Given the description of an element on the screen output the (x, y) to click on. 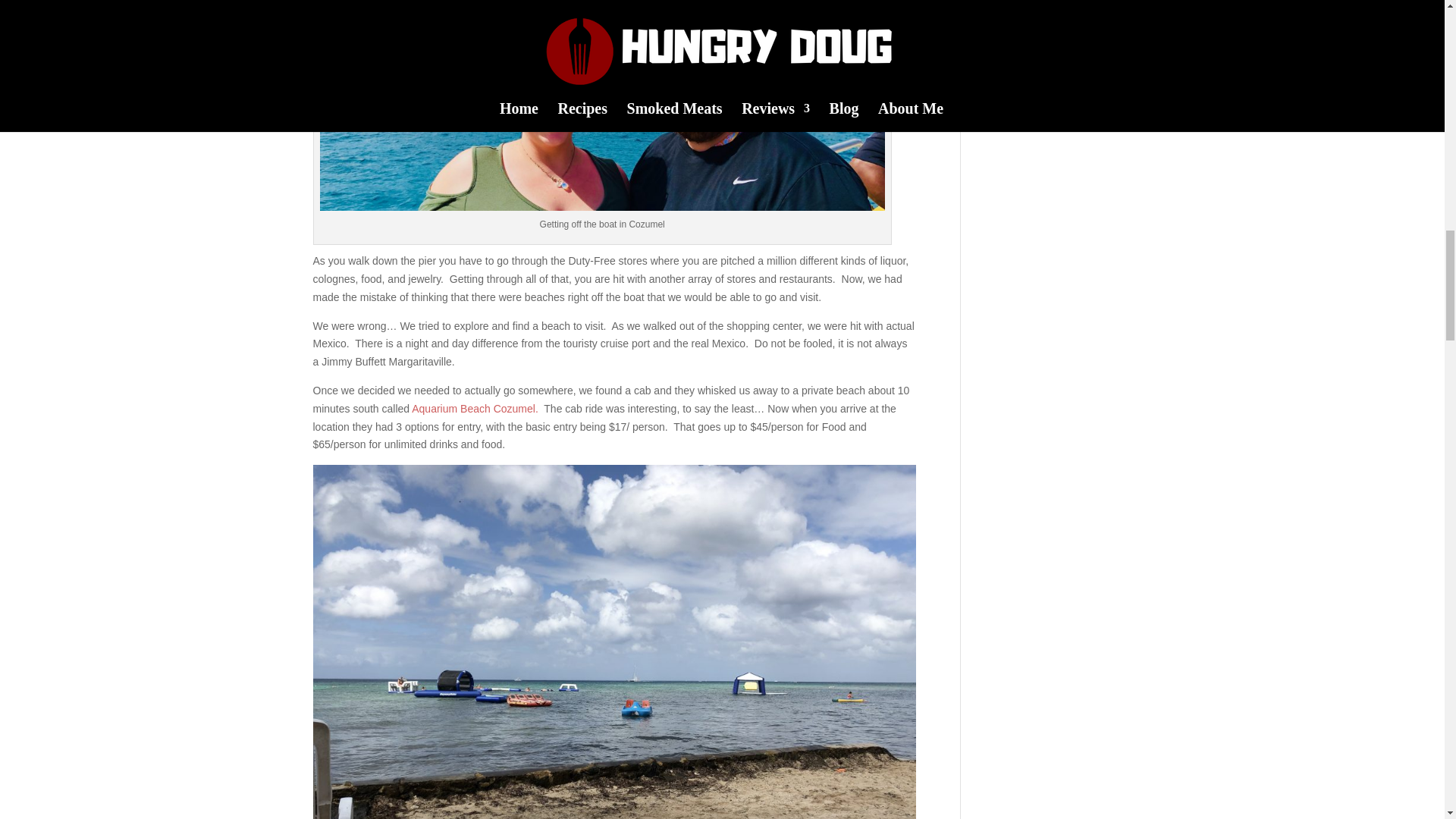
Aquarium Beach Cozumel. (475, 408)
